Given the description of an element on the screen output the (x, y) to click on. 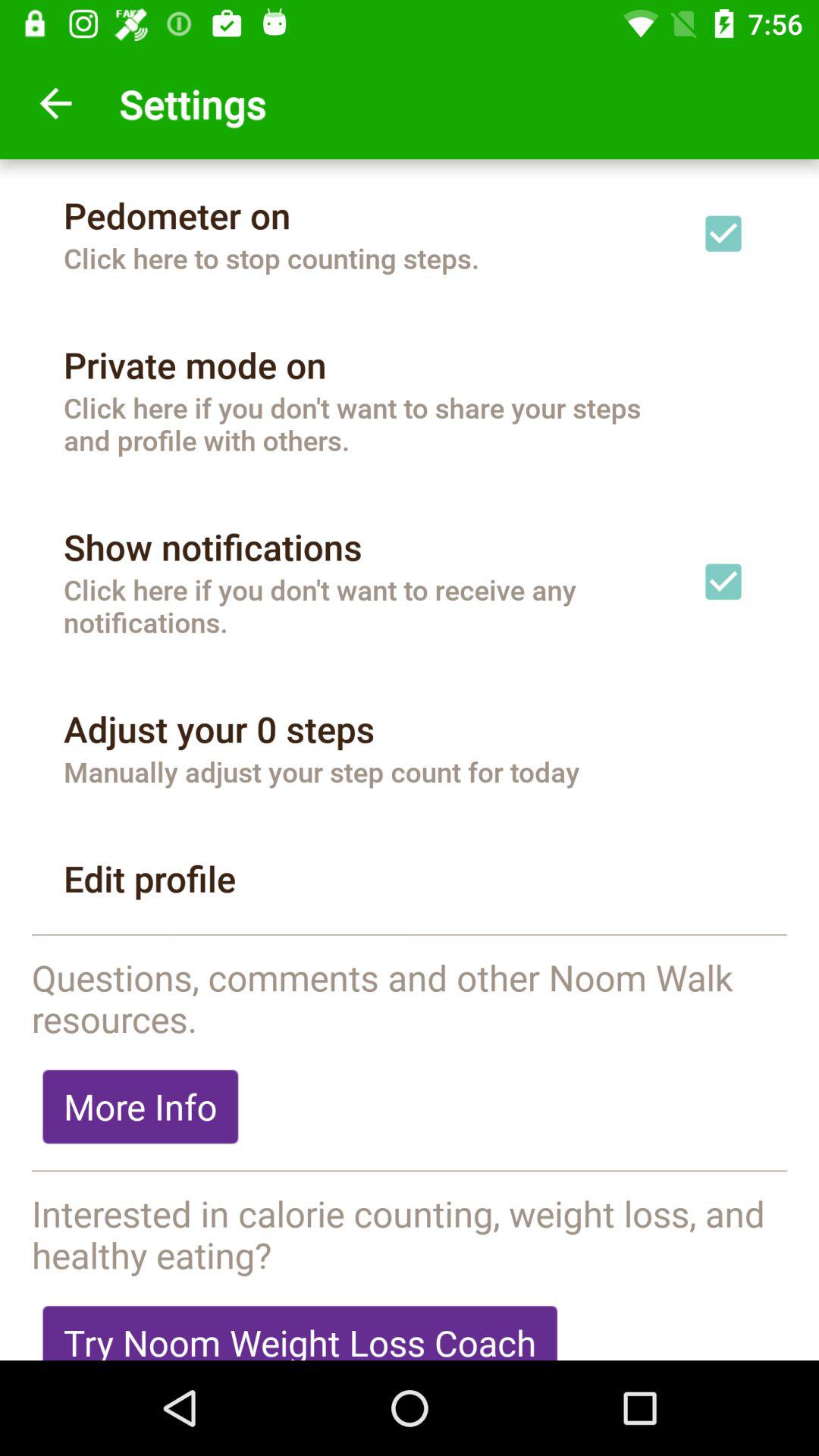
launch more info icon (140, 1106)
